Given the description of an element on the screen output the (x, y) to click on. 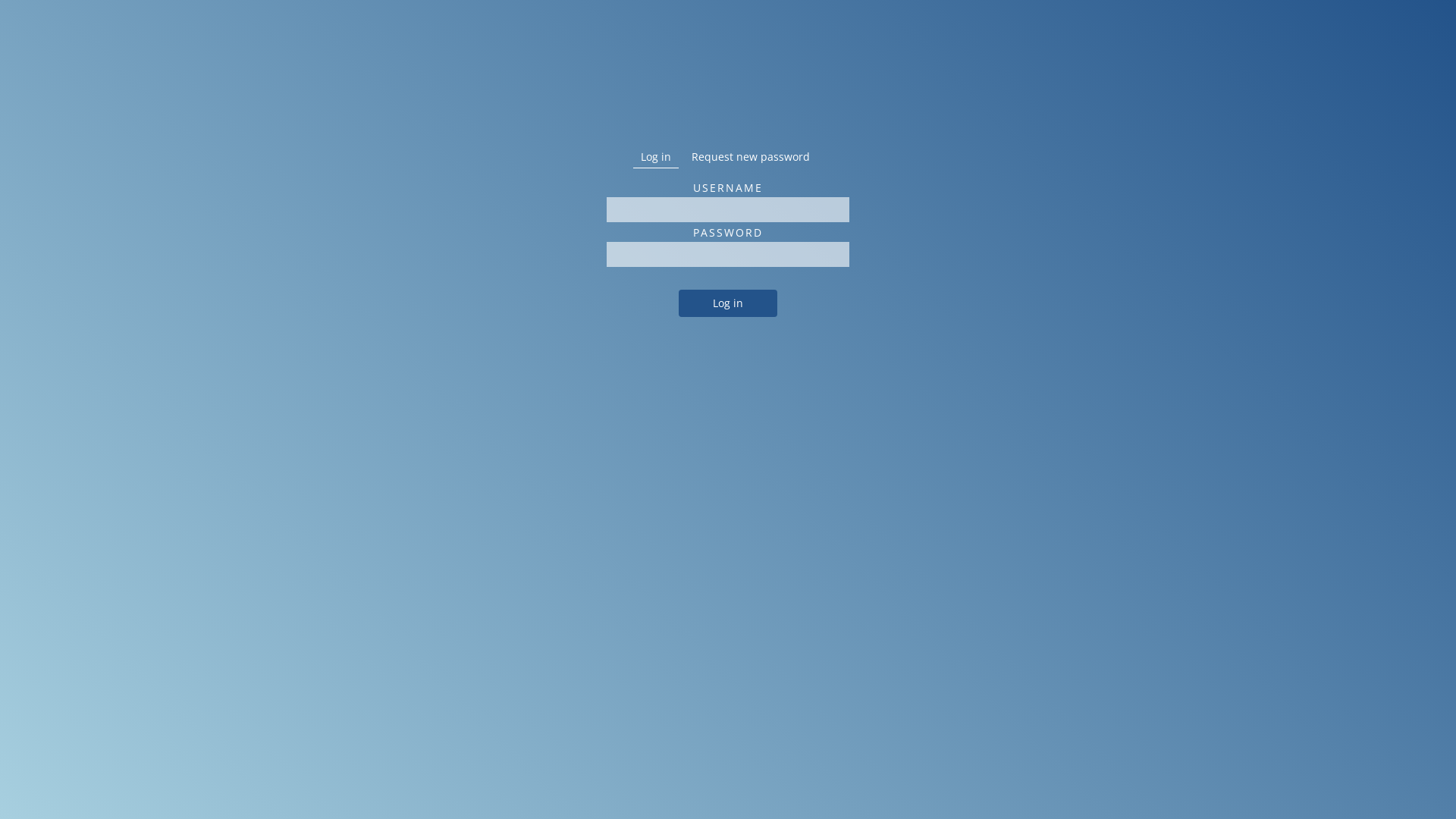
Log in Element type: text (727, 302)
Log in
(active tab) Element type: text (655, 156)
Request new password Element type: text (750, 156)
